Given the description of an element on the screen output the (x, y) to click on. 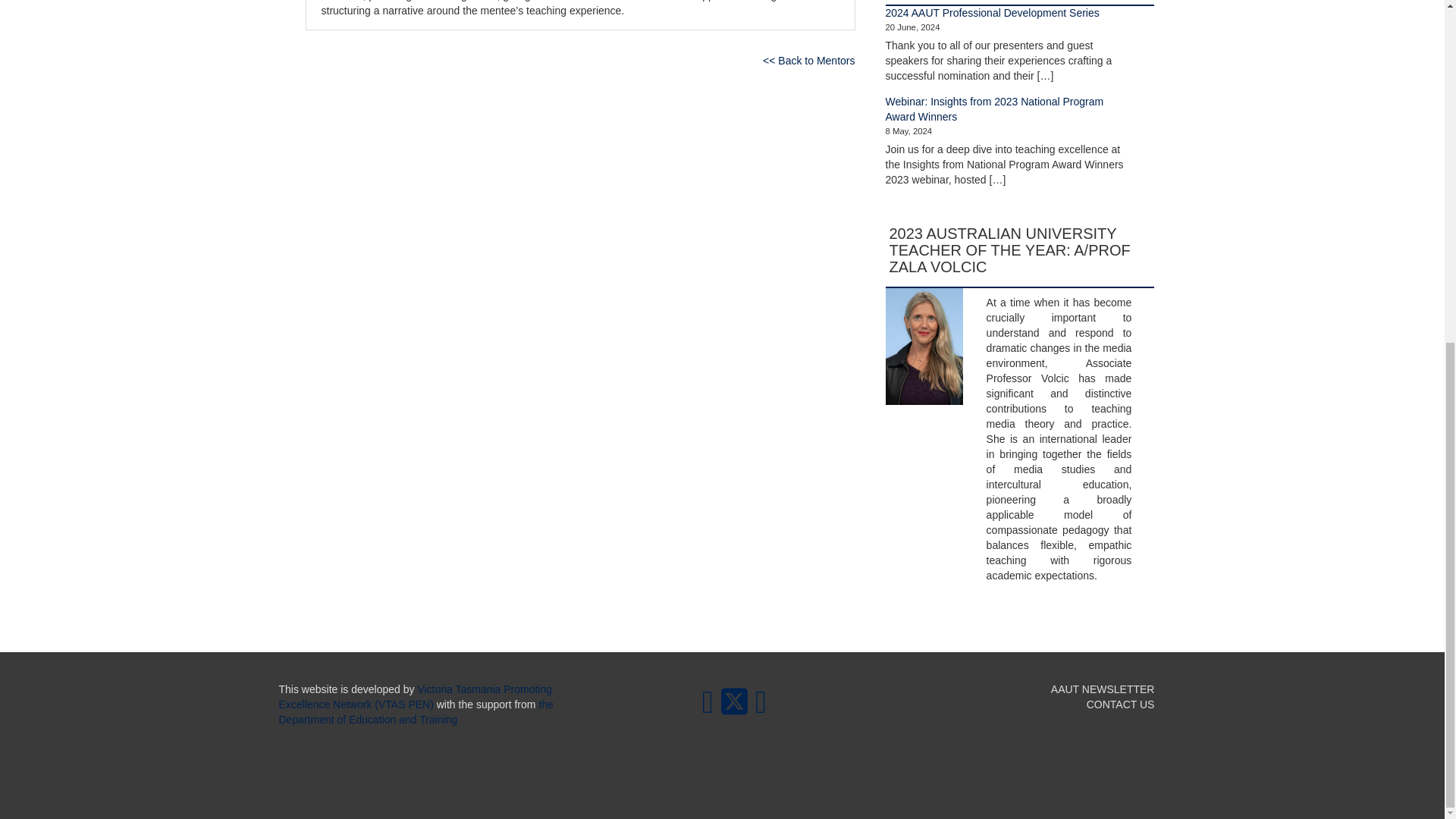
AAUT NEWSLETTER (1102, 689)
2024 AAUT Professional Development Series (992, 12)
the Department of Education and Training (416, 711)
Webinar: Insights from 2023 National Program Award Winners (994, 108)
CONTACT US (1120, 704)
